Given the description of an element on the screen output the (x, y) to click on. 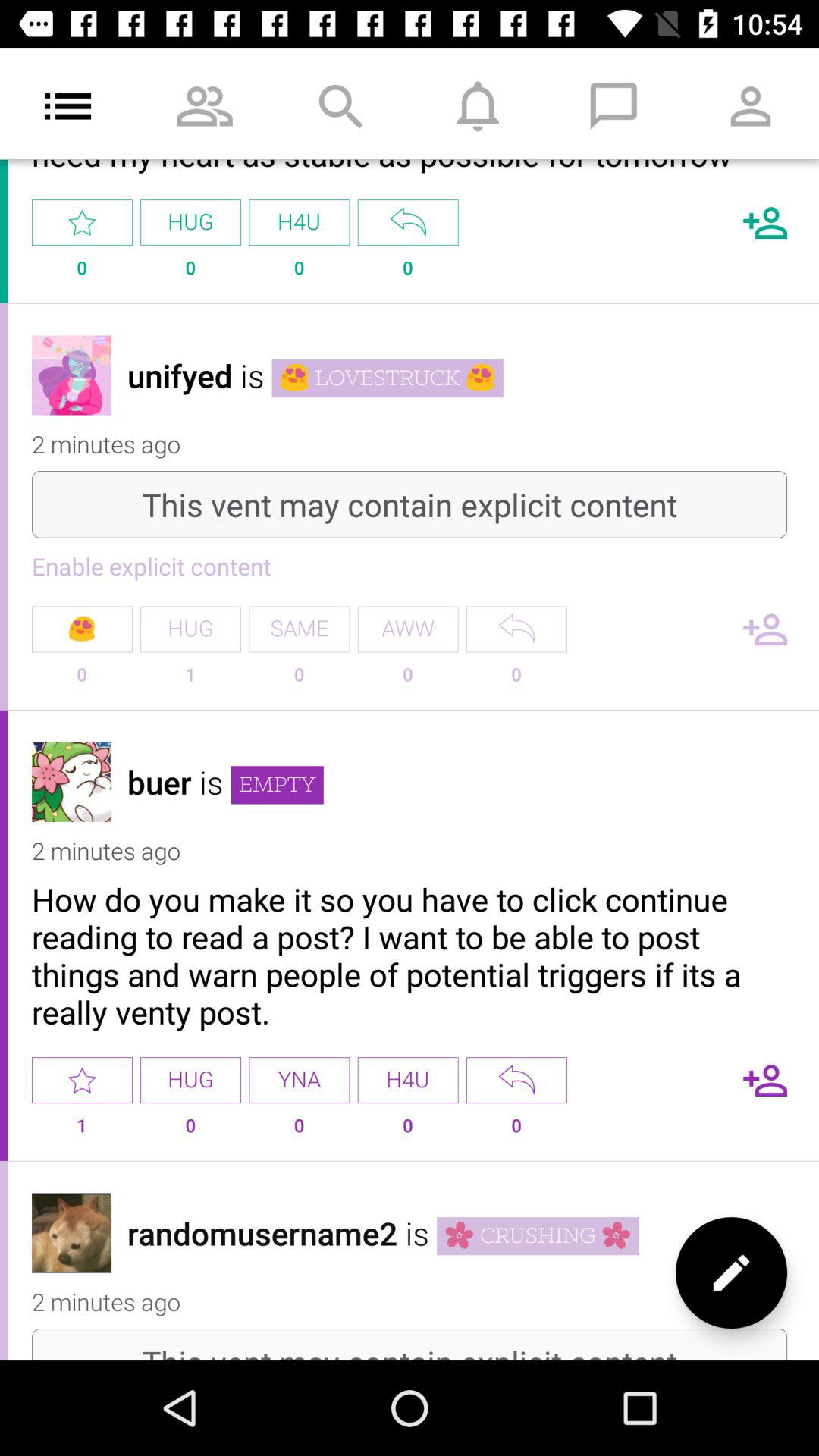
add friend (765, 629)
